Given the description of an element on the screen output the (x, y) to click on. 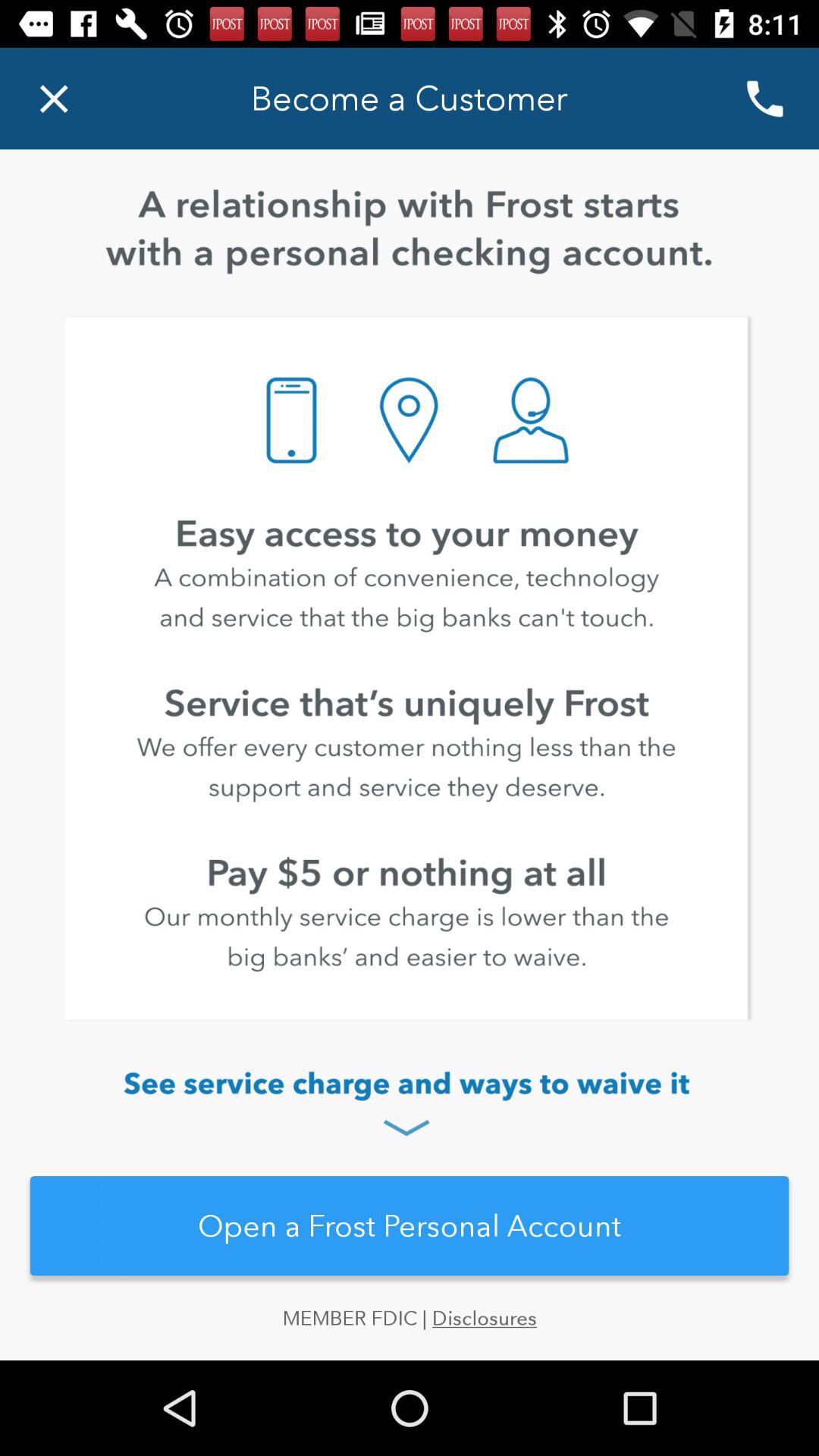
turn off item below open a frost item (409, 1332)
